Given the description of an element on the screen output the (x, y) to click on. 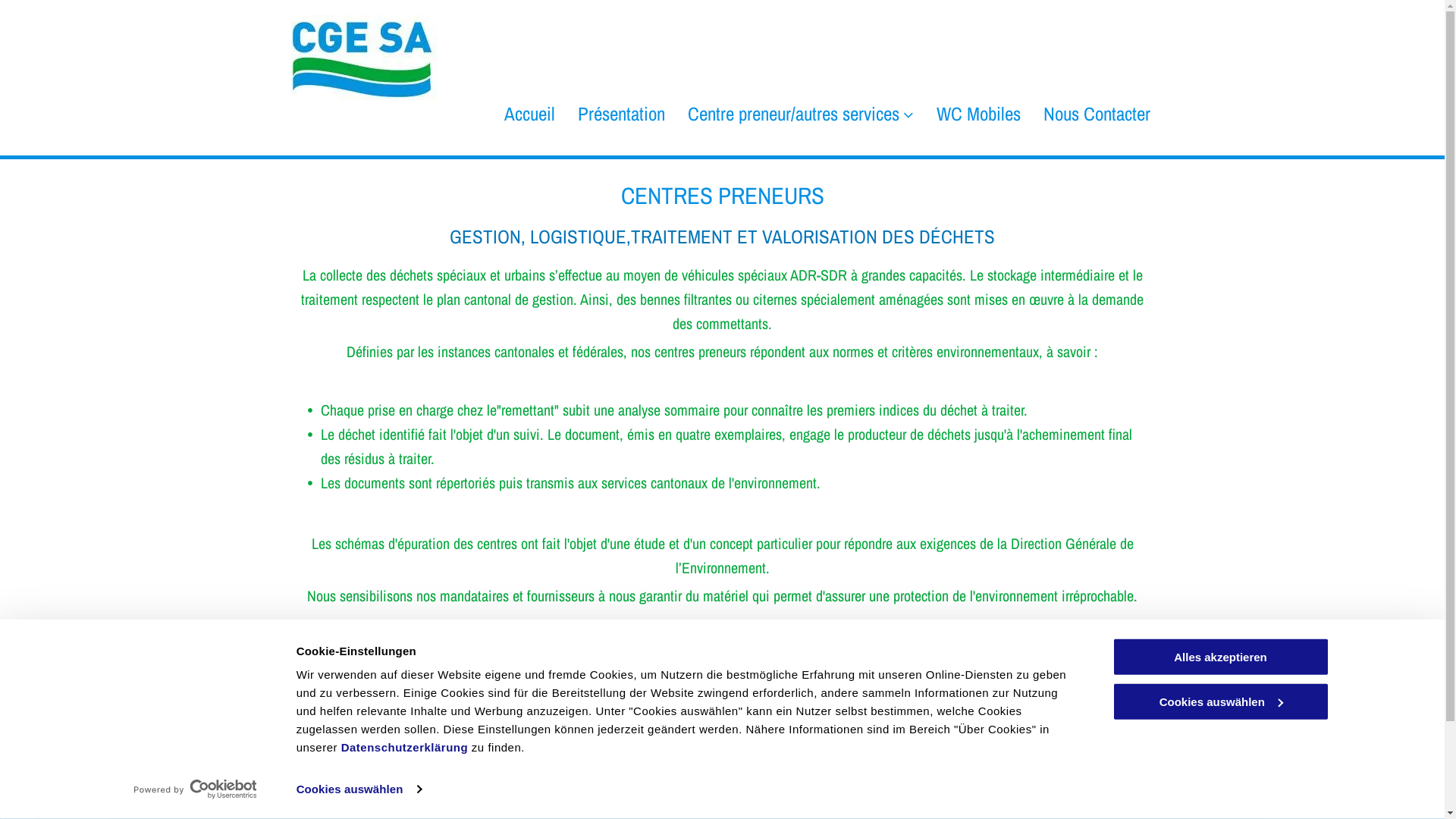
info@cge-sa.ch Element type: text (617, 788)
WC Mobiles Element type: text (977, 115)
021 965 18 17 Element type: text (615, 751)
Centre preneur/autres services Element type: text (800, 115)
Alles akzeptieren Element type: text (1219, 656)
Nous Contacter Element type: text (1096, 115)
Accueil Element type: text (528, 115)
